Given the description of an element on the screen output the (x, y) to click on. 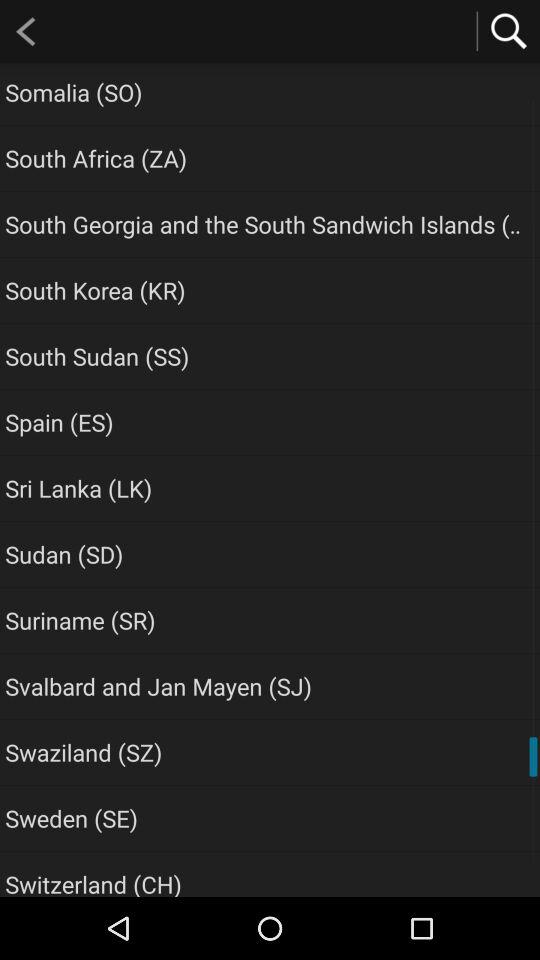
select the app above south sudan (ss) item (95, 290)
